Given the description of an element on the screen output the (x, y) to click on. 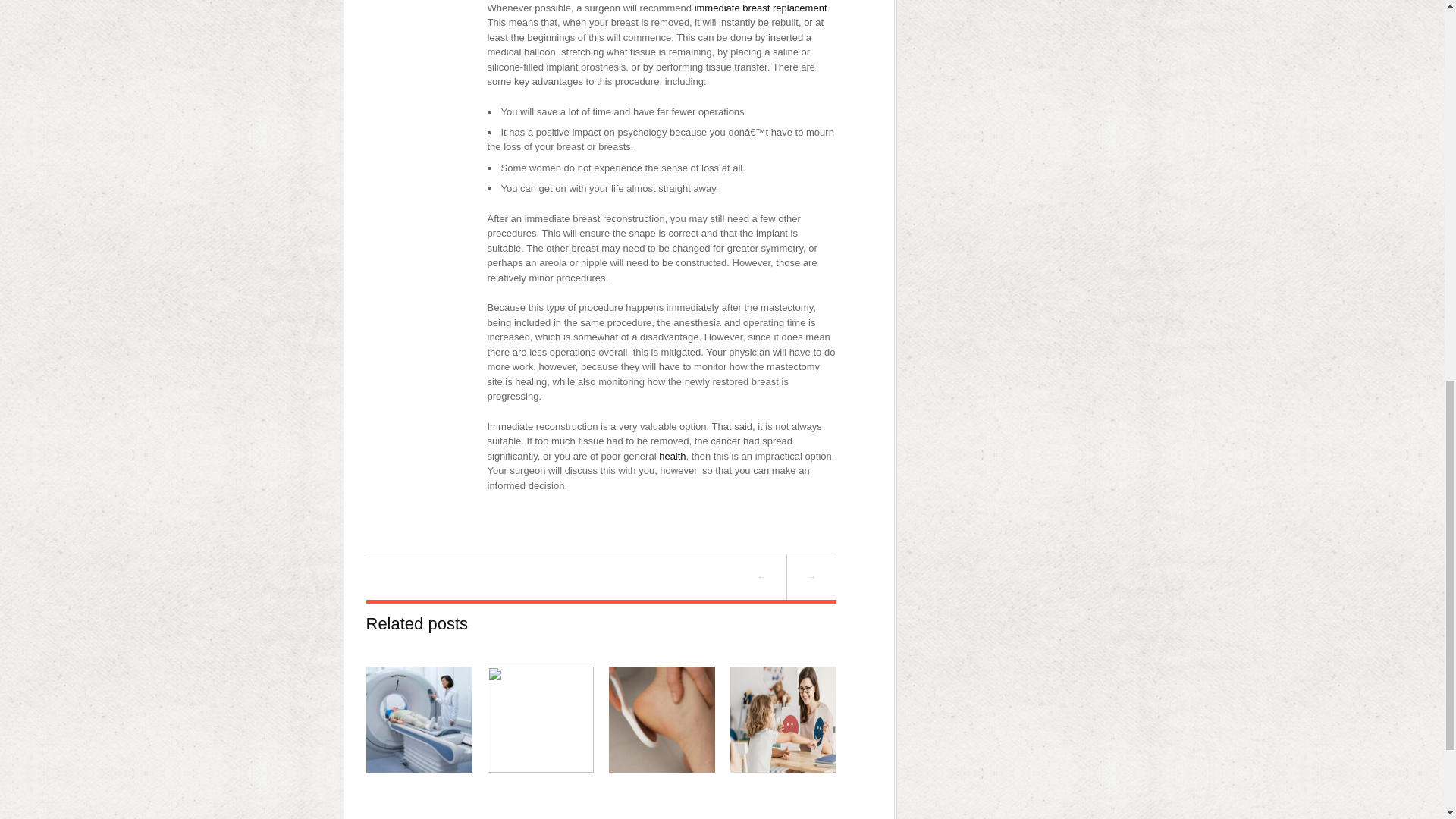
health (672, 455)
immediate breast replacement (760, 7)
